Given the description of an element on the screen output the (x, y) to click on. 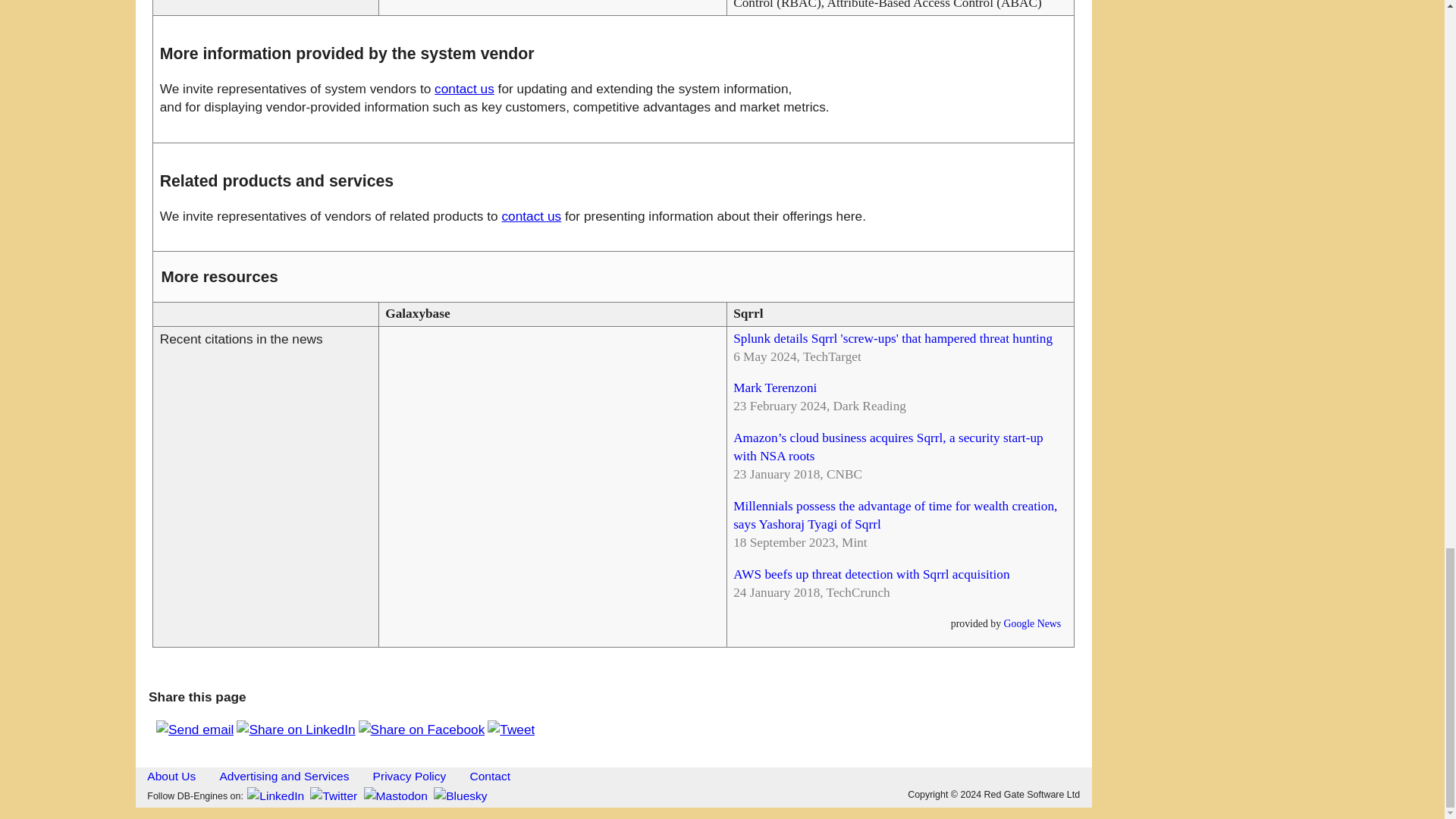
Mastodon (395, 795)
LinkedIn (275, 795)
Send email (194, 729)
Share on LinkedIn (295, 729)
contact us (464, 88)
Twitter (333, 795)
Mark Terenzoni (774, 387)
Bluesky (459, 795)
Share on Facebook (421, 729)
Tweet (510, 729)
contact us (530, 215)
